Given the description of an element on the screen output the (x, y) to click on. 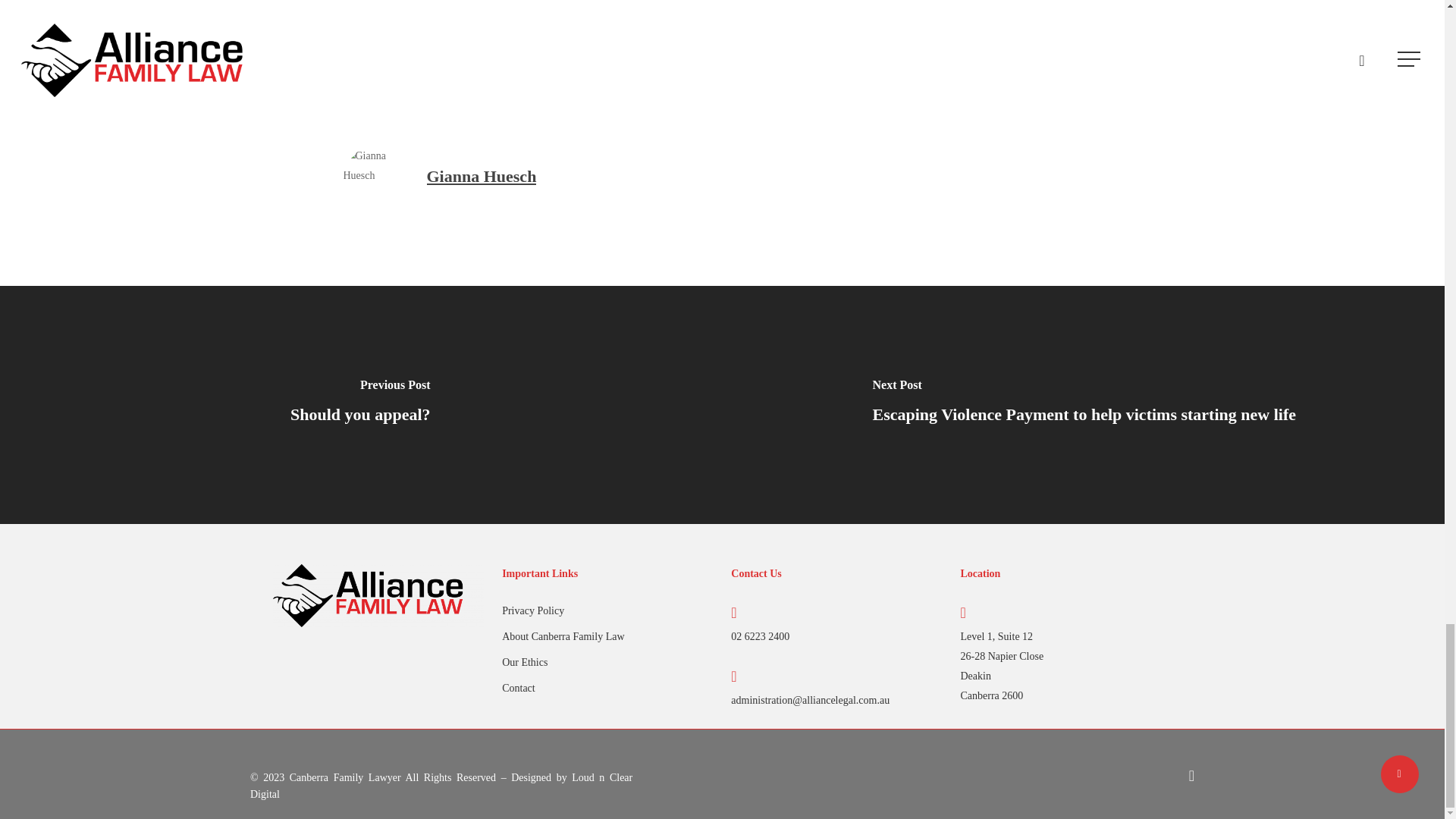
02 6223 2400 (759, 636)
View all posts (487, 8)
Our Ethics (607, 662)
Privacy Policy (607, 610)
Loud n Clear Digital (440, 786)
About Canberra Family Law (607, 637)
View all posts (487, 8)
Contact (607, 688)
Gianna Huesch (480, 176)
